Given the description of an element on the screen output the (x, y) to click on. 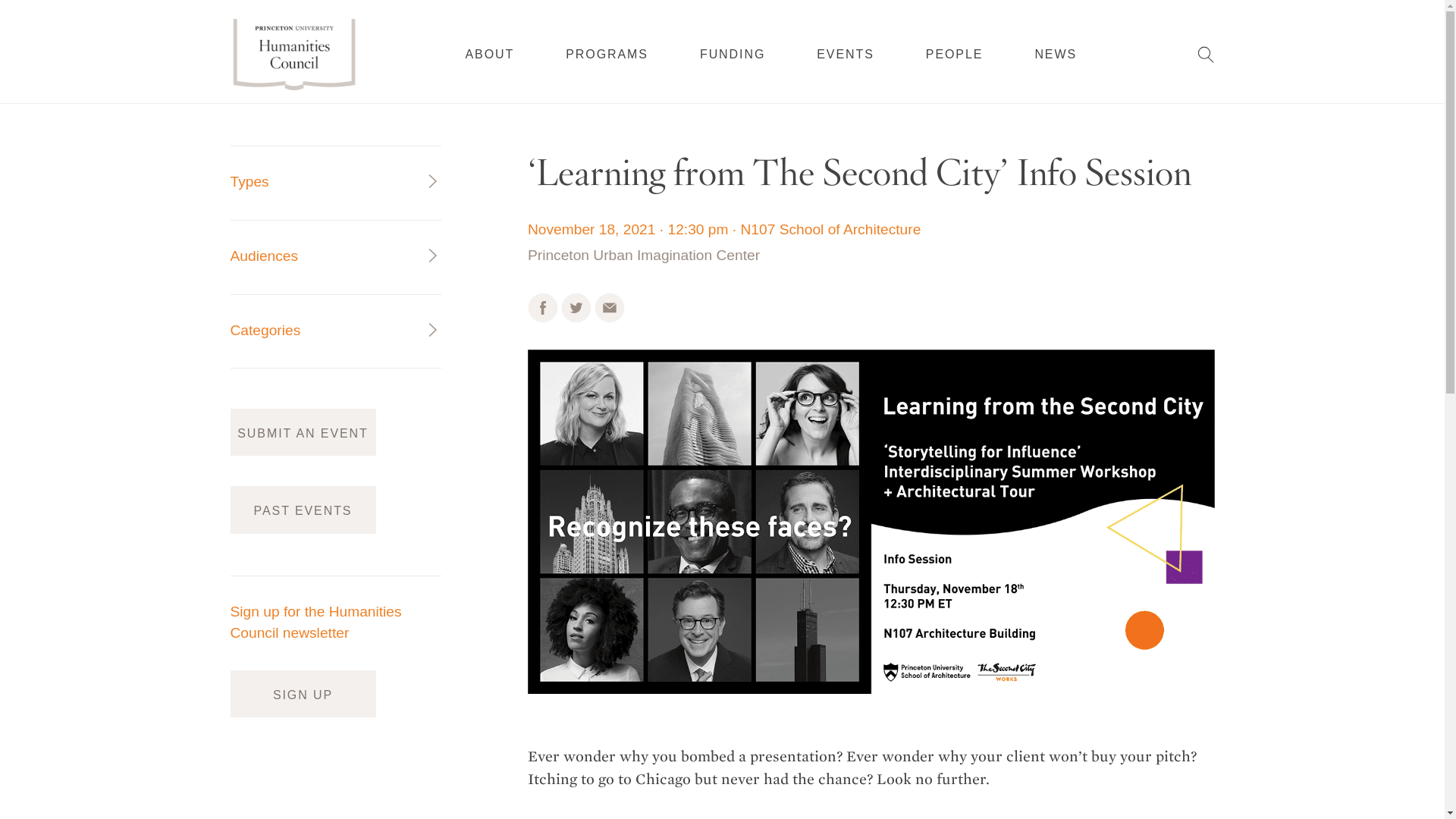
ABOUT (490, 54)
PEOPLE (955, 53)
PROGRAMS (606, 54)
FUNDING (732, 54)
EVENTS (845, 54)
NEWS (1055, 53)
